Given the description of an element on the screen output the (x, y) to click on. 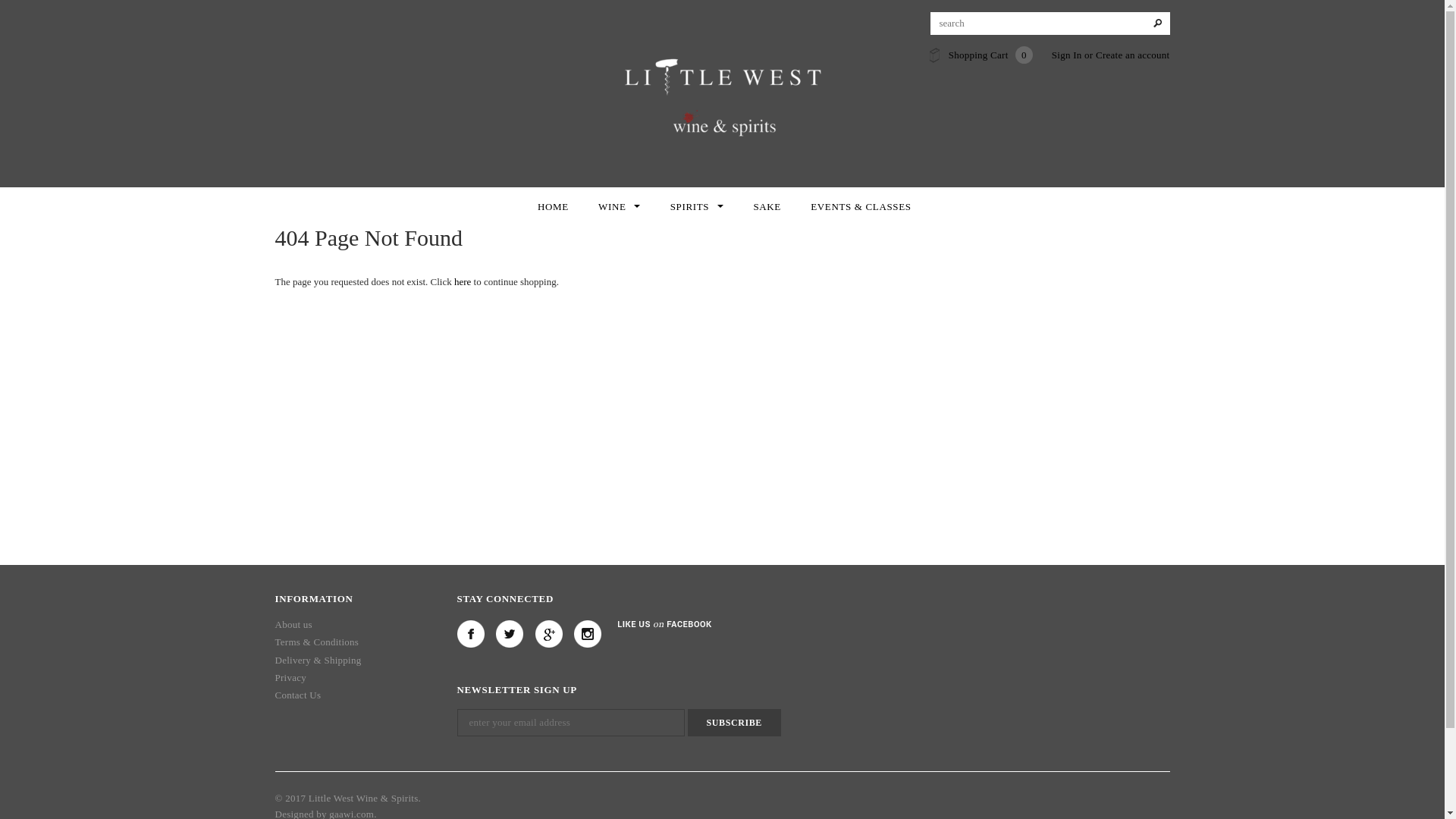
Sign In (1066, 54)
gaawi.com (351, 814)
HOME (553, 206)
About us (293, 629)
Search (1158, 23)
SAKE (766, 206)
Create an account (1133, 54)
WINE (619, 206)
Subscribe (733, 722)
Search (1158, 23)
Shopping Cart 0 (990, 54)
Privacy (290, 680)
SPIRITS (696, 206)
here (462, 281)
